Given the description of an element on the screen output the (x, y) to click on. 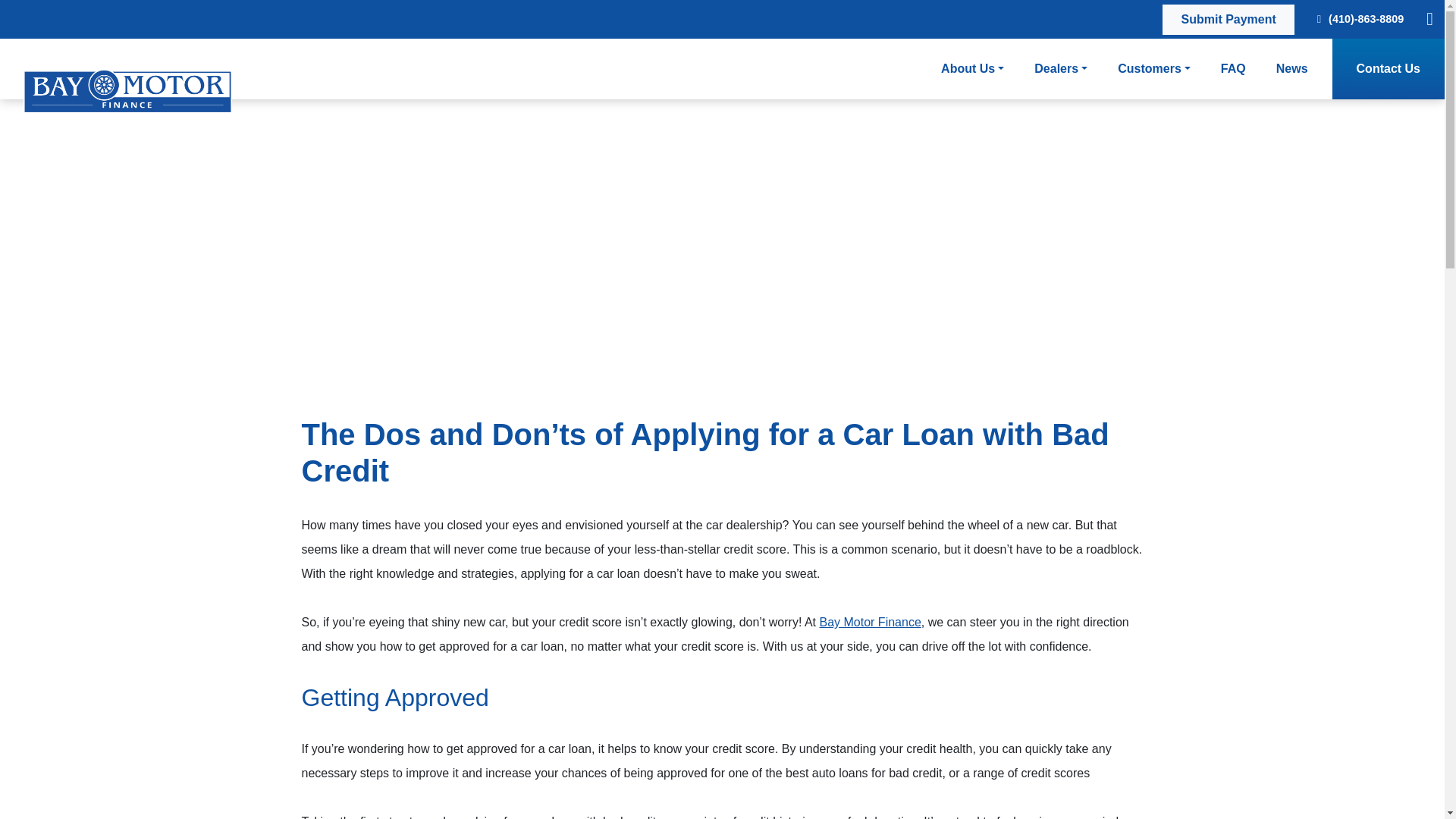
Dealers (1060, 68)
FAQ (1233, 68)
Bay Motor Finance (869, 621)
About Us (972, 68)
Dealers (1060, 68)
Open in a new window (1227, 19)
Bay Motor Finance on LinkedIn (1429, 18)
Customers (1154, 68)
Customers (1154, 68)
News (1291, 68)
News (1291, 68)
FAQ (1233, 68)
About Us (972, 68)
Submit Payment (1227, 19)
